Given the description of an element on the screen output the (x, y) to click on. 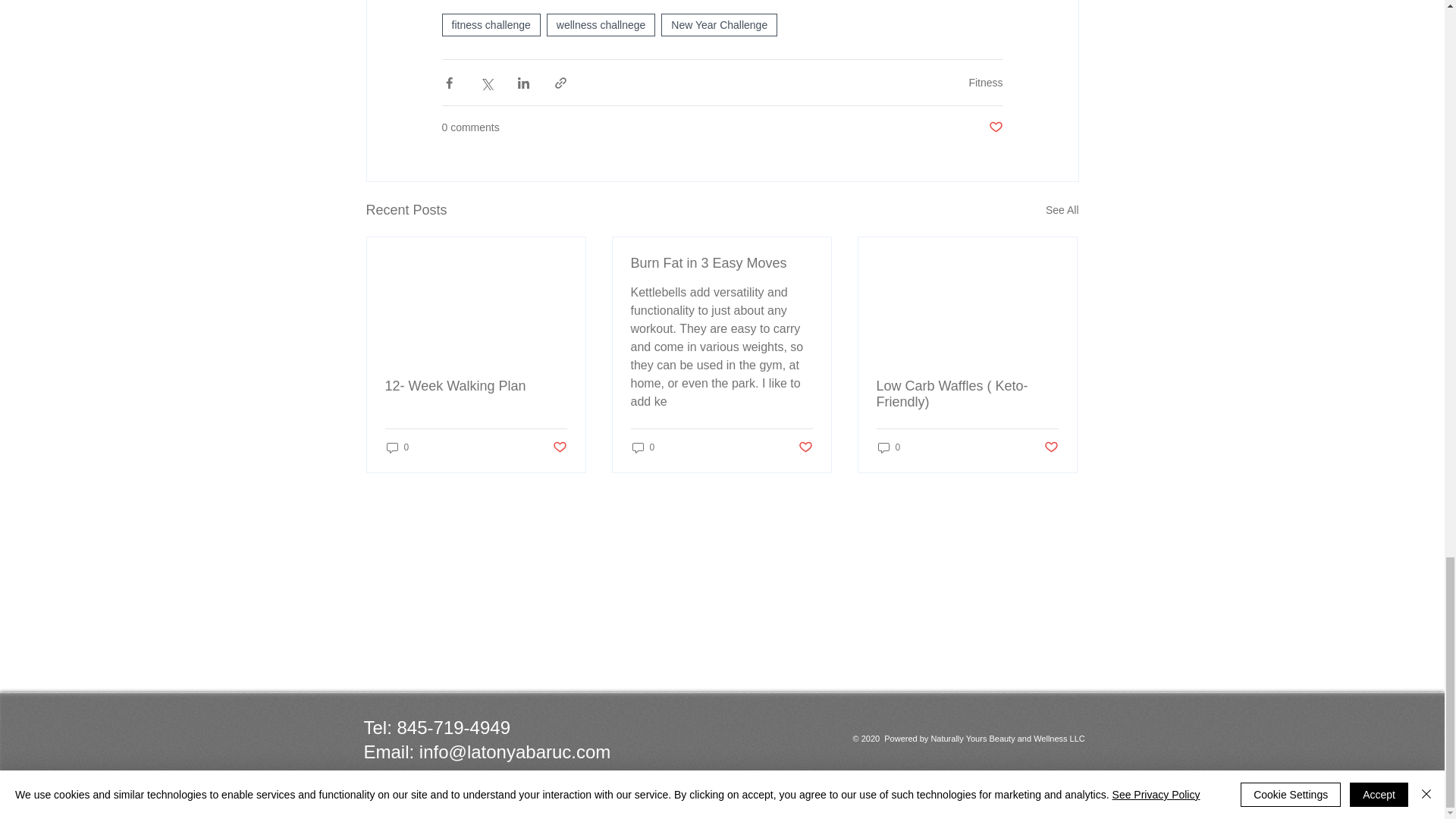
wellness challnege (601, 24)
New Year Challenge (719, 24)
Fitness (985, 82)
See All (1061, 210)
Post not marked as liked (995, 127)
fitness challenge (490, 24)
